Given the description of an element on the screen output the (x, y) to click on. 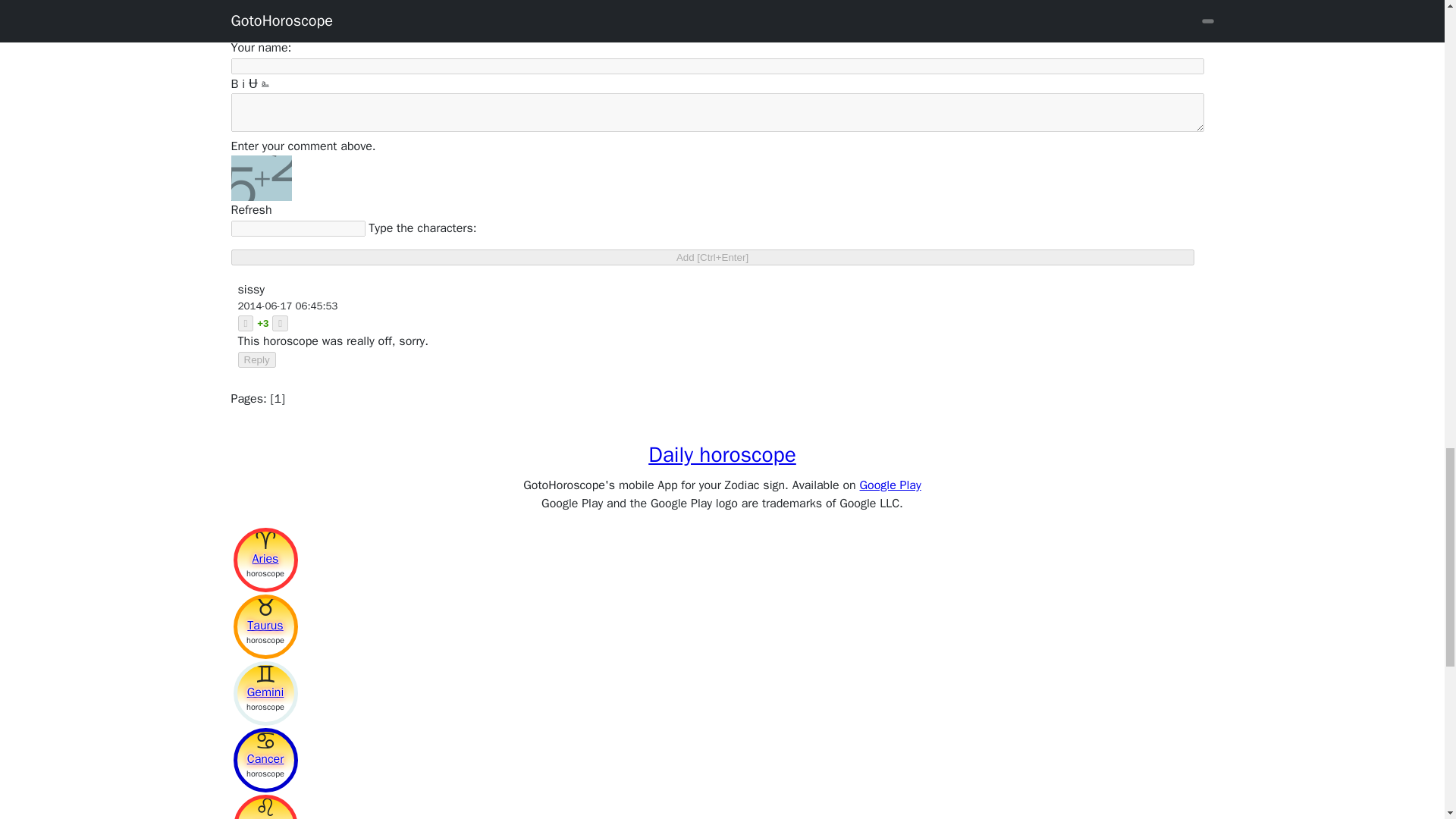
Refresh (250, 209)
Reply (257, 359)
